Given the description of an element on the screen output the (x, y) to click on. 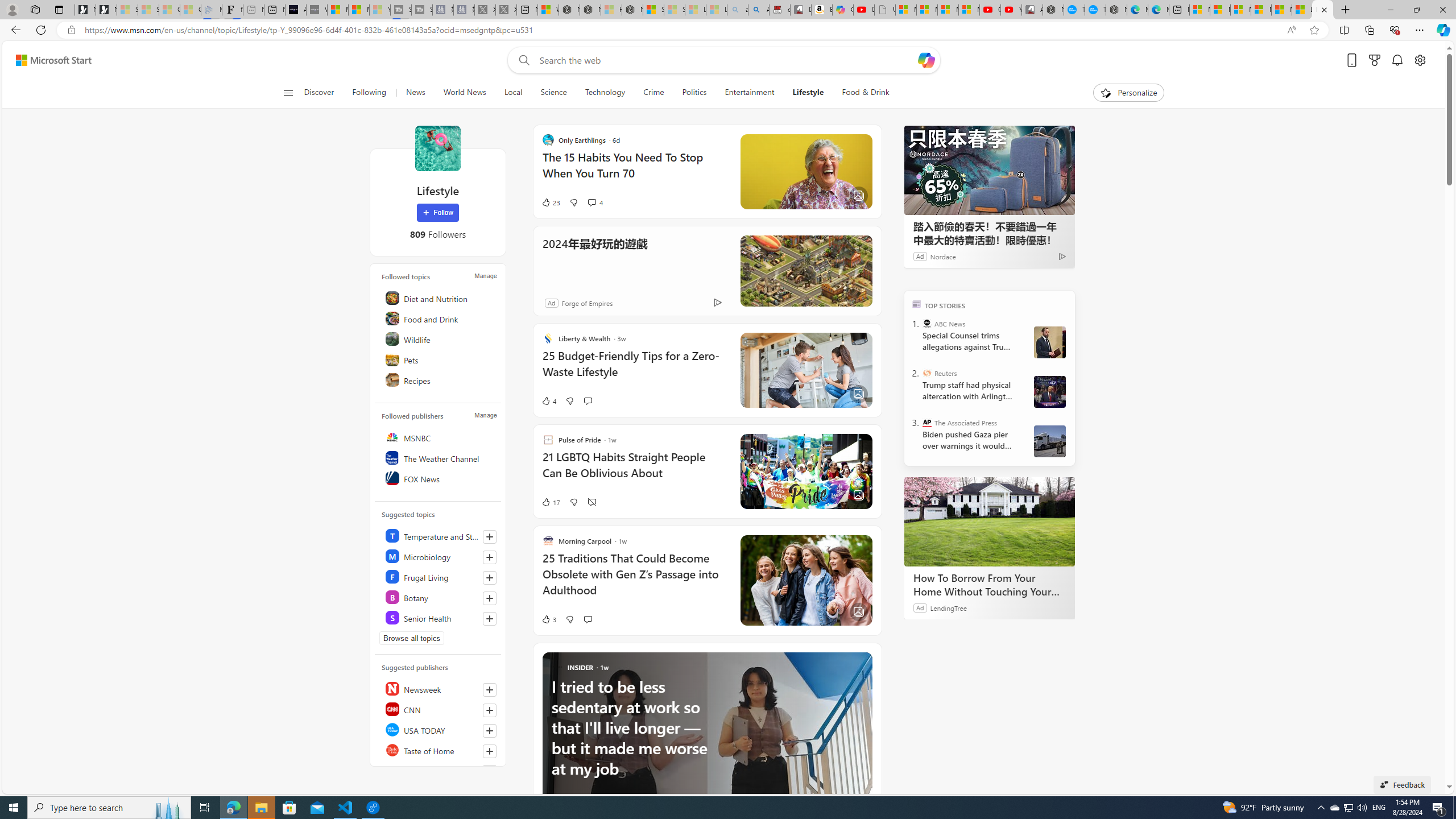
Wildlife (439, 339)
17 Like (549, 502)
Crime (653, 92)
Personalize (1128, 92)
Open settings (1420, 60)
Start the conversation (587, 619)
Class: highlight (439, 617)
Nordace - Nordace Siena Is Not An Ordinary Backpack (632, 9)
